Given the description of an element on the screen output the (x, y) to click on. 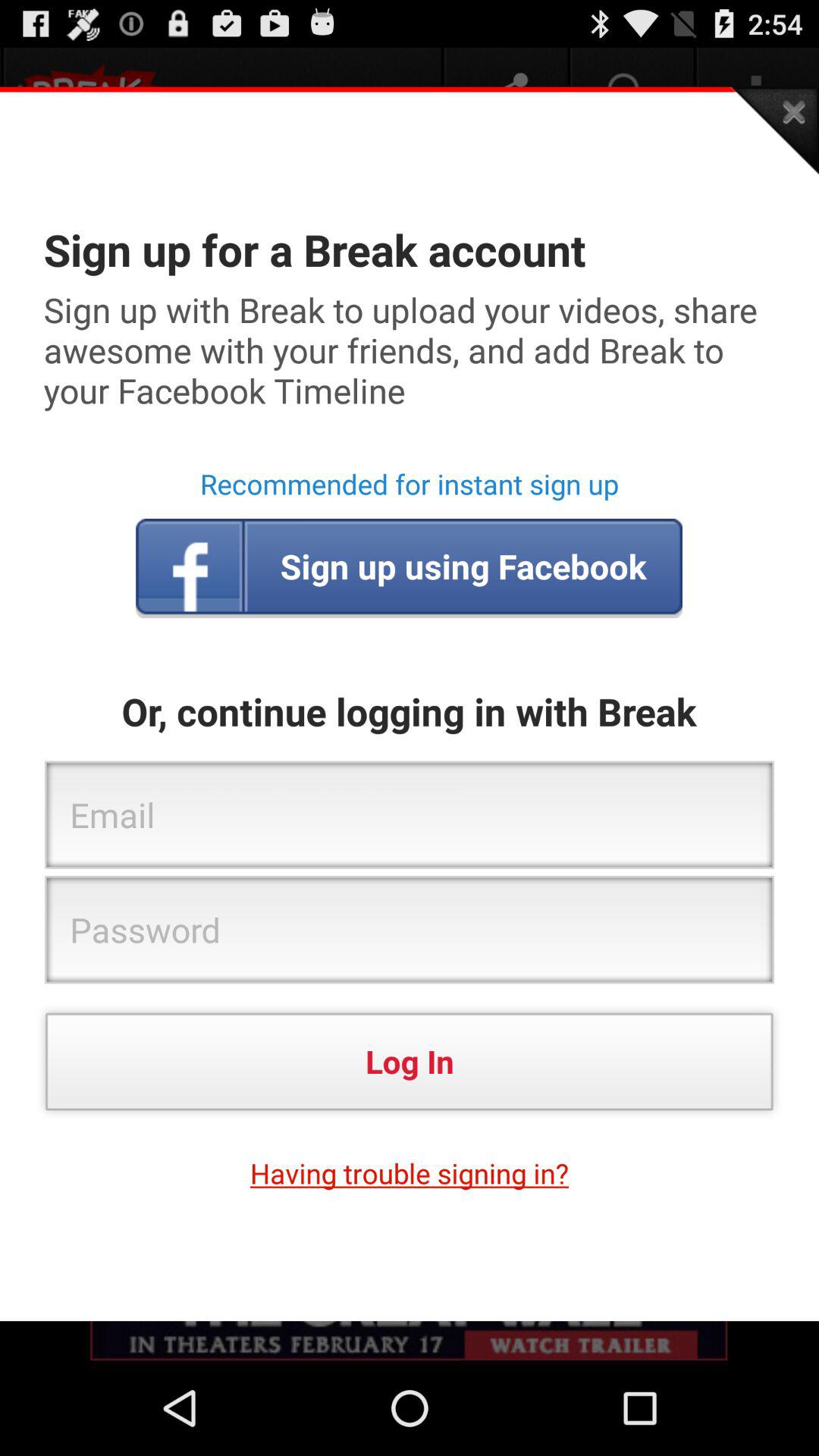
turn on log in icon (409, 1061)
